Given the description of an element on the screen output the (x, y) to click on. 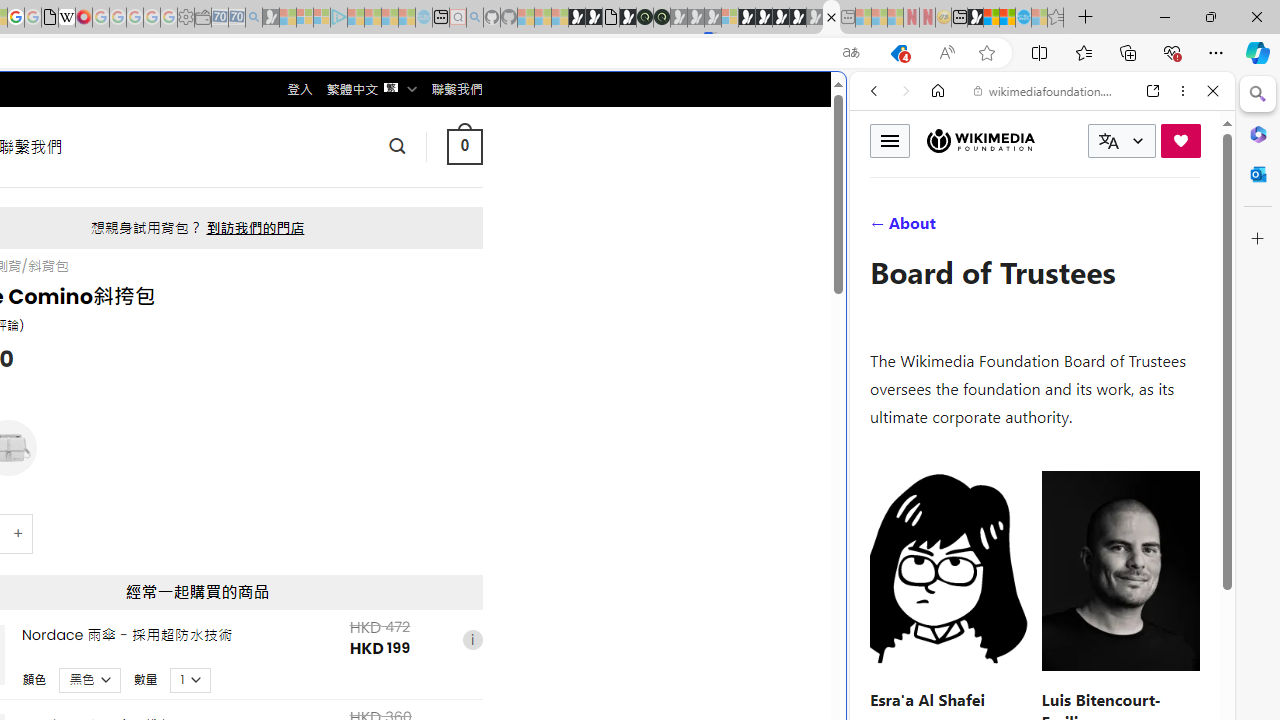
wikimediafoundation.org (1045, 90)
This site has coupons! Shopping in Microsoft Edge, 4 (898, 53)
Earth has six continents not seven, radical new study claims (1007, 17)
Search or enter web address (343, 191)
